Given the description of an element on the screen output the (x, y) to click on. 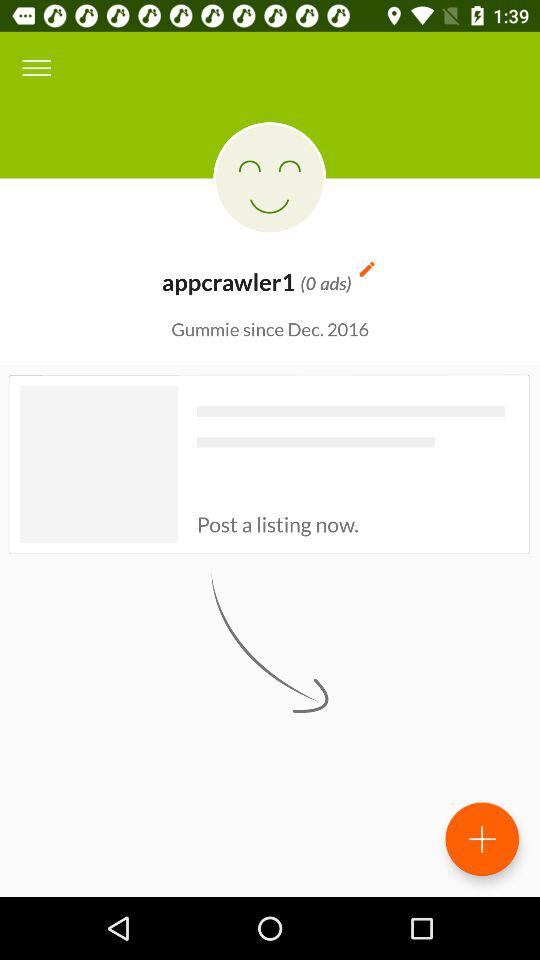
choose item above gummie since dec (36, 68)
